Given the description of an element on the screen output the (x, y) to click on. 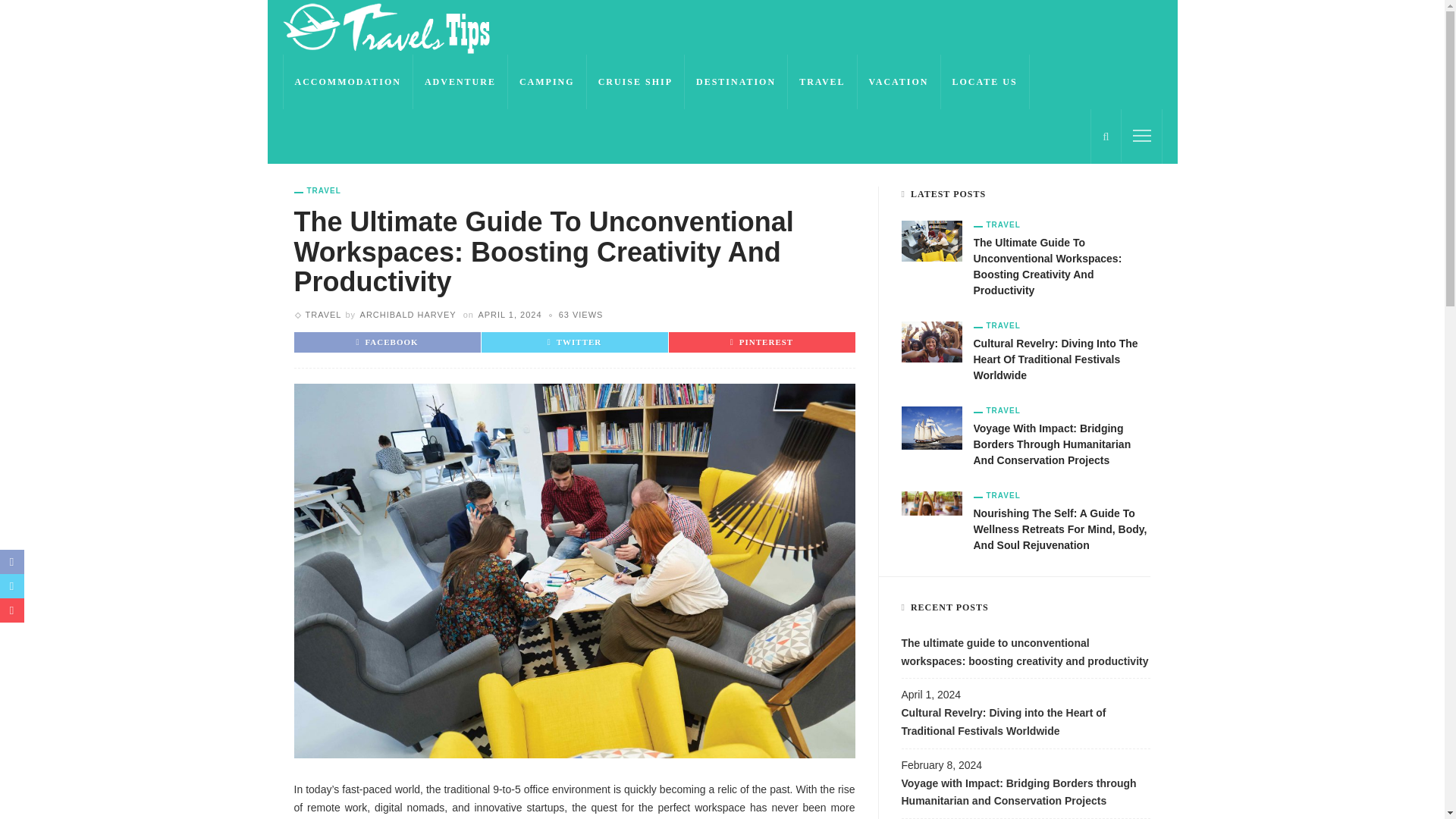
Travels Tips (386, 26)
Travel (317, 190)
Travel (322, 314)
